Given the description of an element on the screen output the (x, y) to click on. 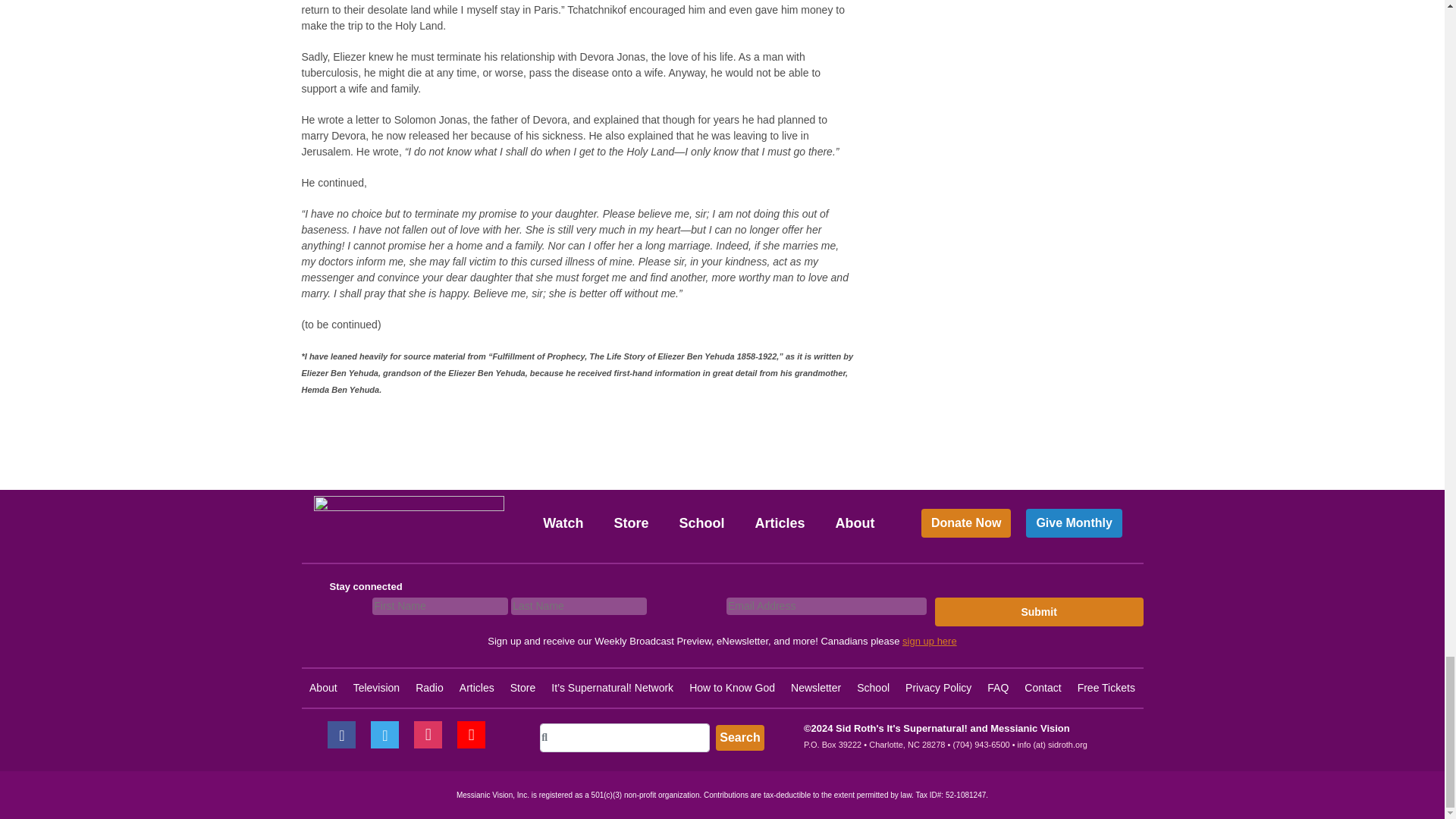
School (701, 522)
Articles (780, 522)
Submit (1038, 611)
Give Monthly (1073, 523)
Submit (1038, 611)
Store (631, 522)
Donate Now (965, 523)
Watch (563, 522)
About (855, 522)
